Given the description of an element on the screen output the (x, y) to click on. 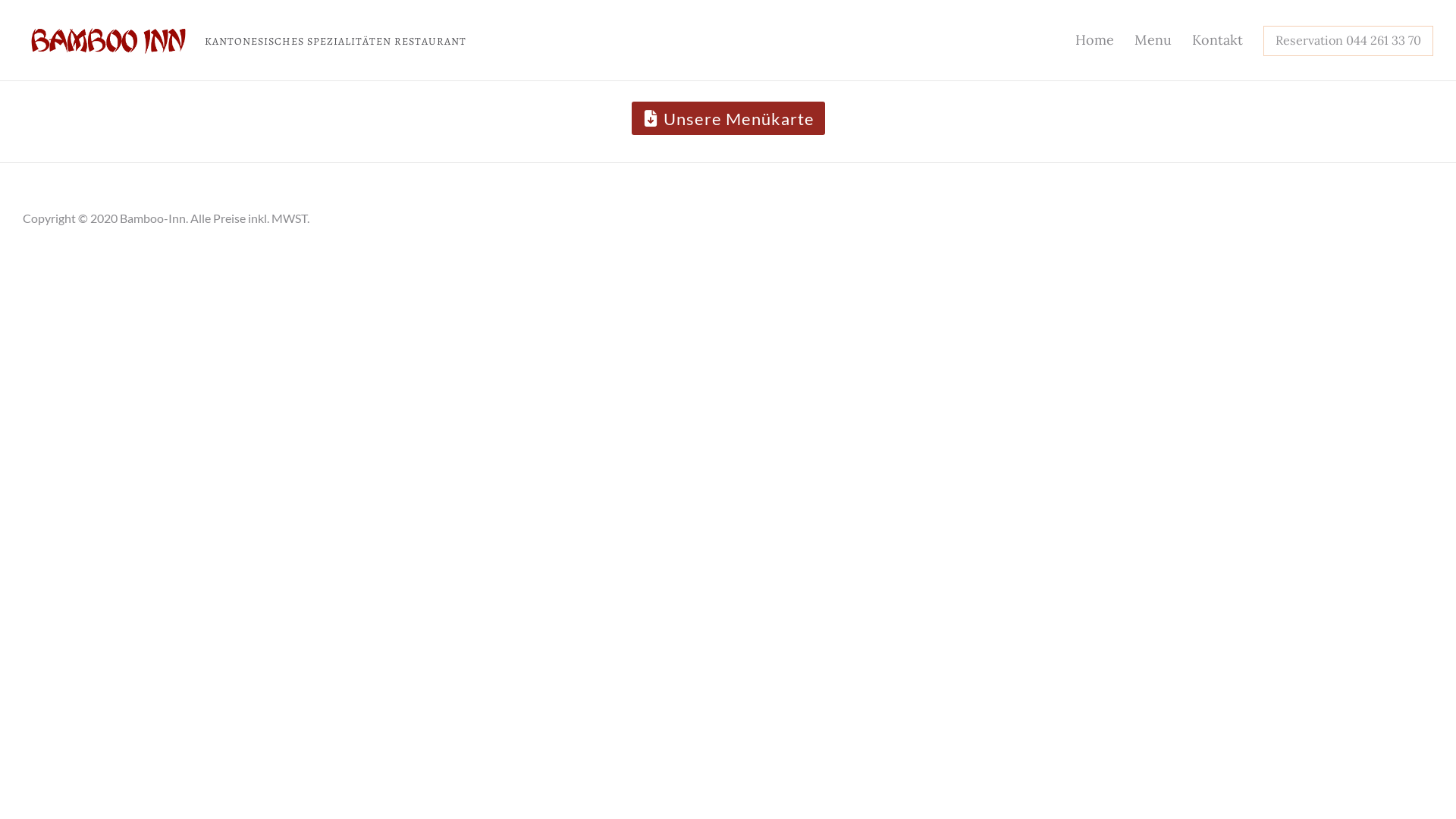
logo Element type: hover (109, 40)
Home Element type: text (1094, 39)
Reservation 044 261 33 70 Element type: text (1348, 39)
Menu Element type: text (1152, 39)
Kontakt Element type: text (1217, 39)
